Given the description of an element on the screen output the (x, y) to click on. 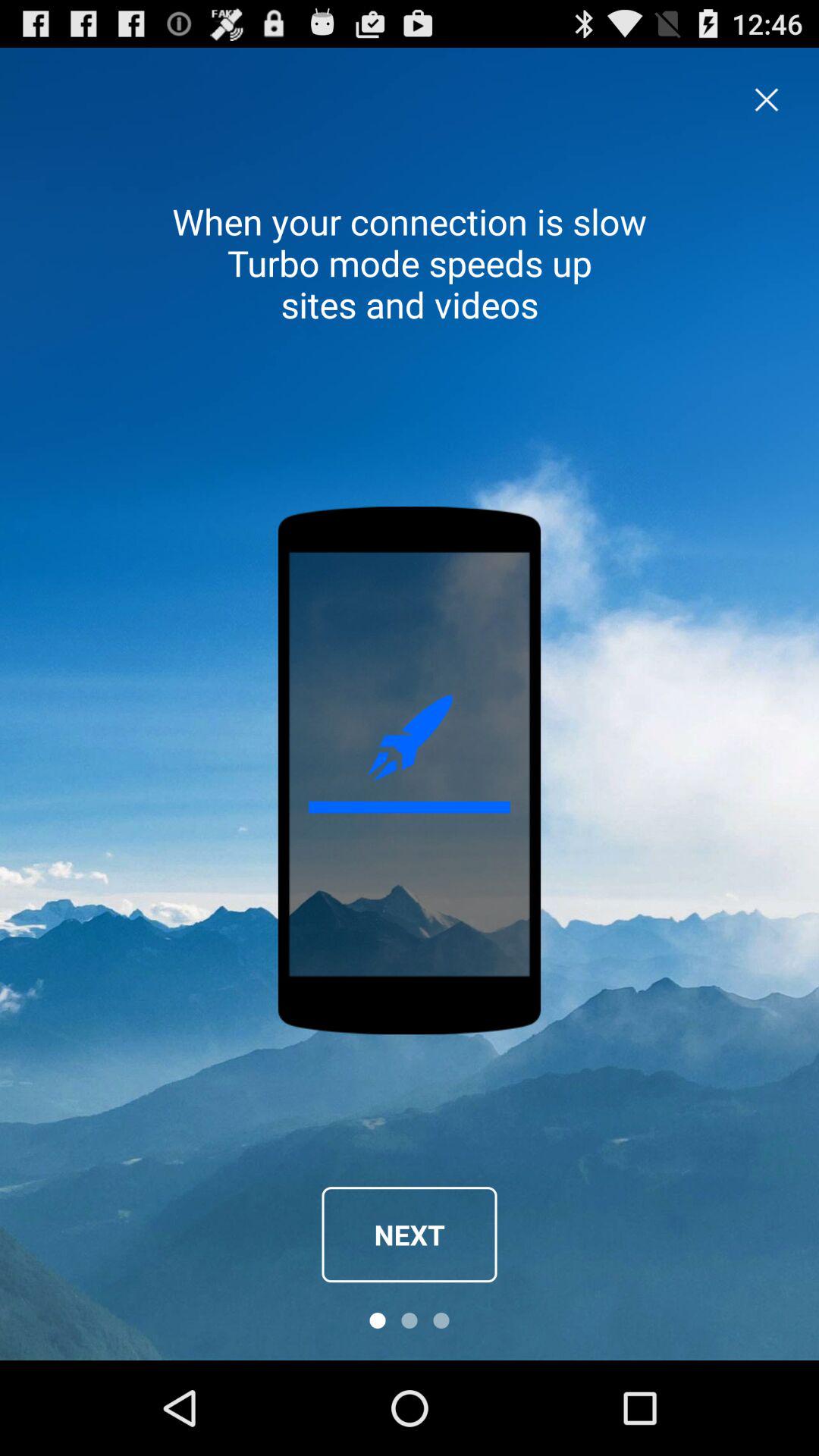
launch next (409, 1234)
